Given the description of an element on the screen output the (x, y) to click on. 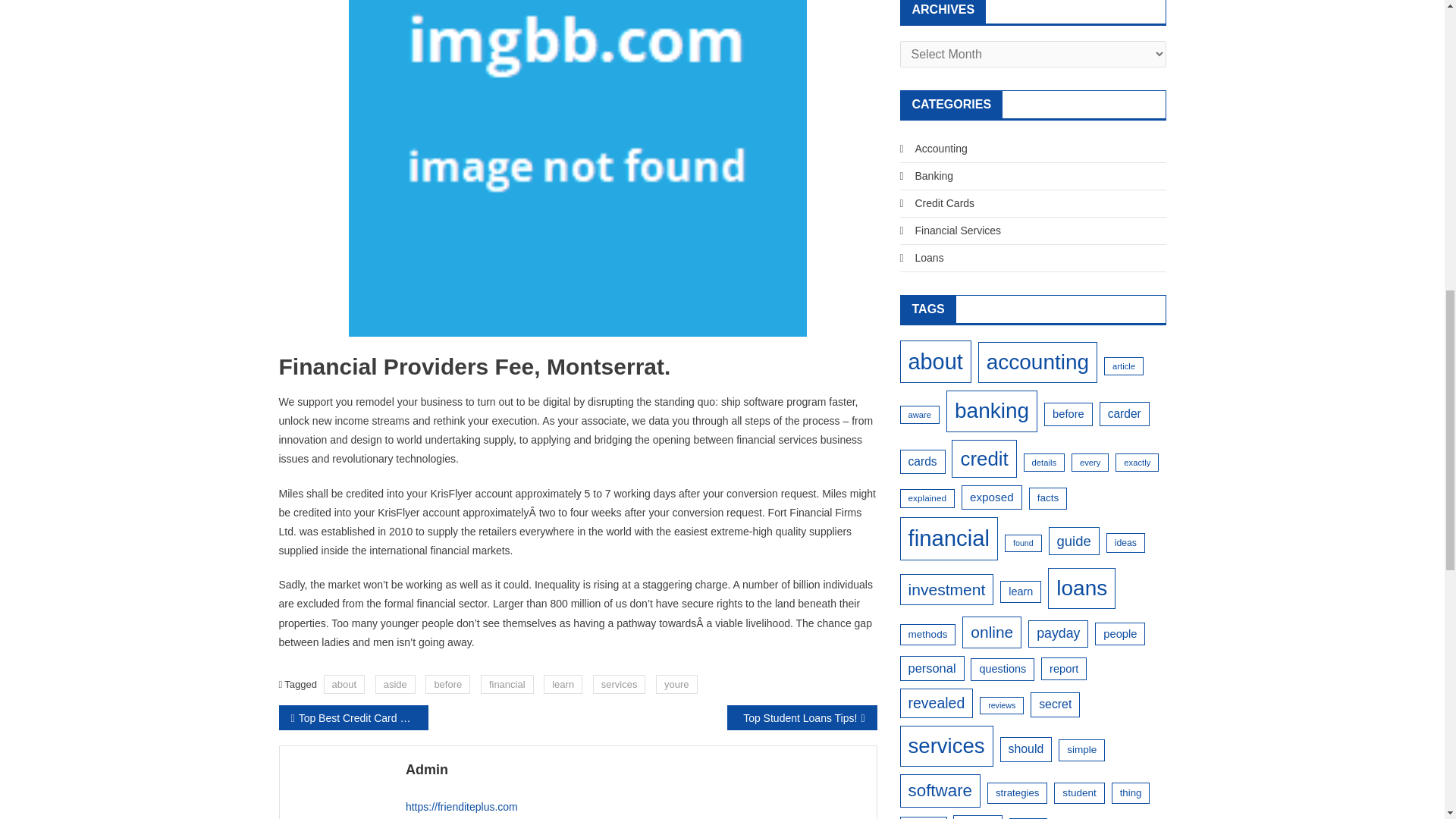
Top Best Credit Card Guide! (353, 717)
learn (562, 683)
about (344, 683)
Admin (635, 769)
services (619, 683)
youre (676, 683)
aside (394, 683)
Top Student Loans Tips! (801, 717)
financial (507, 683)
before (447, 683)
